Given the description of an element on the screen output the (x, y) to click on. 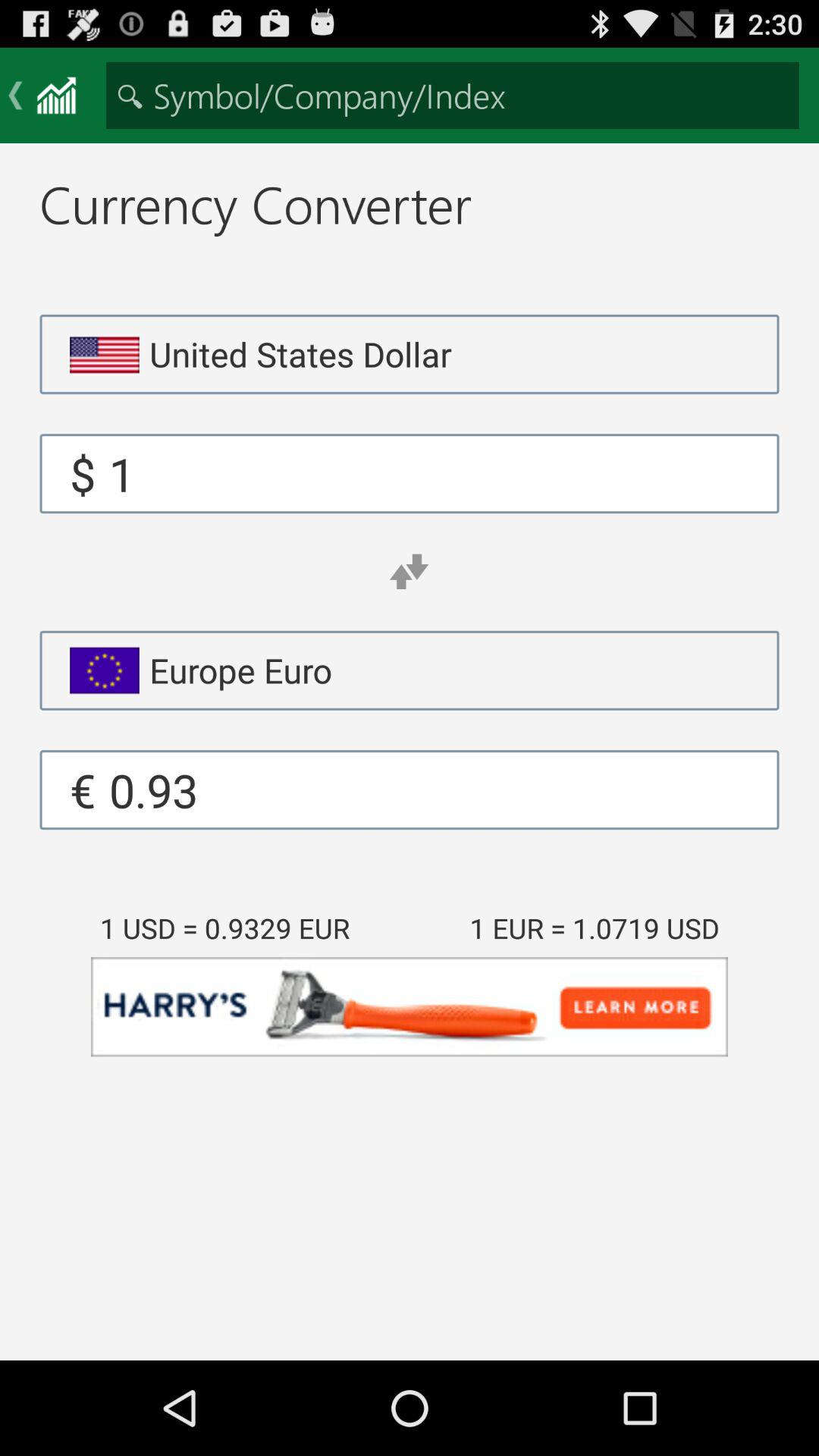
symbol/company/index (452, 95)
